Given the description of an element on the screen output the (x, y) to click on. 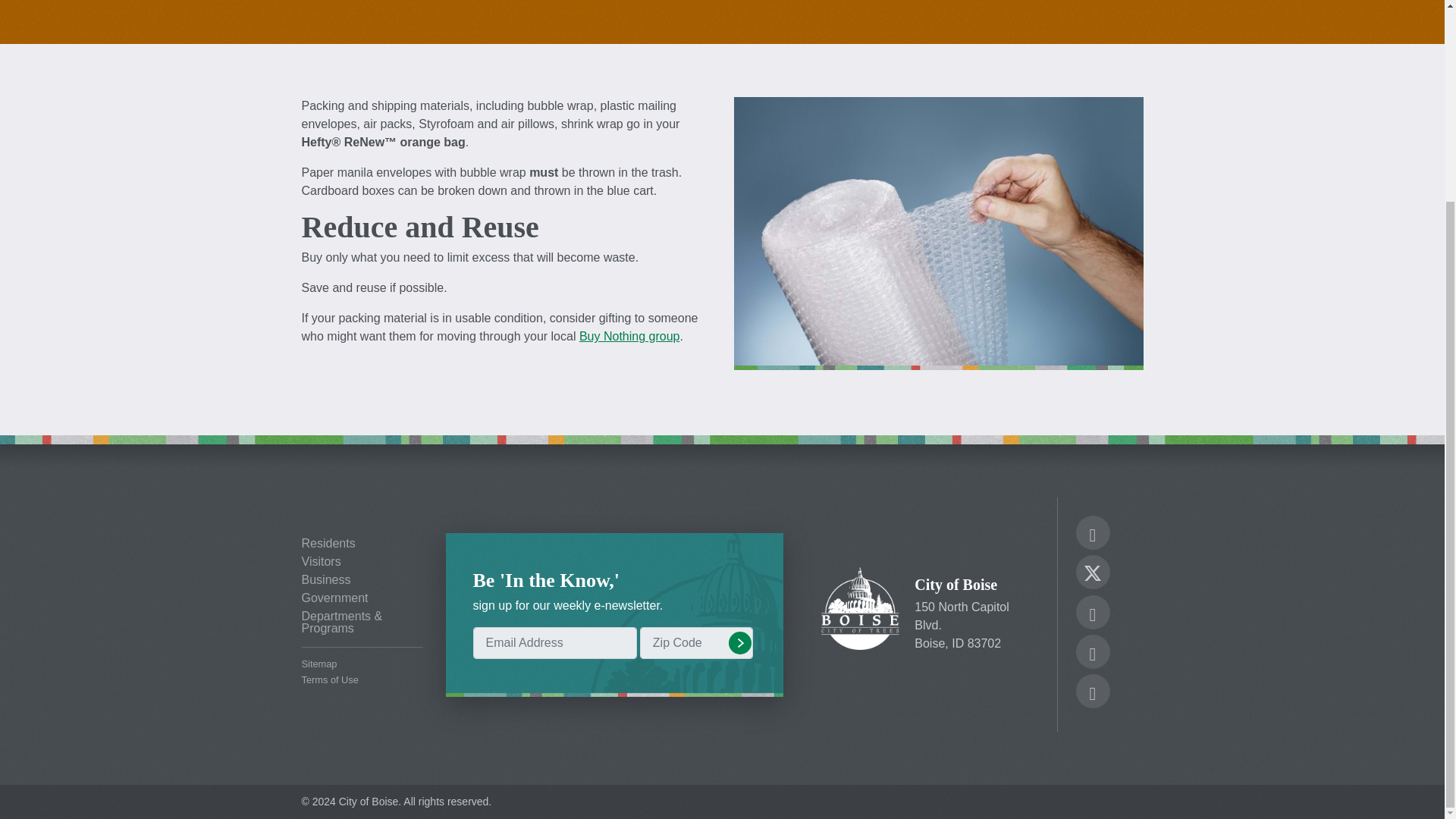
Residents (362, 543)
Government (362, 598)
Buy Nothing group (629, 336)
Sitemap (362, 664)
YouTube (1092, 653)
Business (362, 580)
Twitter (1092, 571)
Submit (739, 642)
Instagram (1092, 614)
Facebook (1092, 534)
Terms of Use (362, 680)
Visitors (362, 562)
LinkedIn (1092, 693)
